Given the description of an element on the screen output the (x, y) to click on. 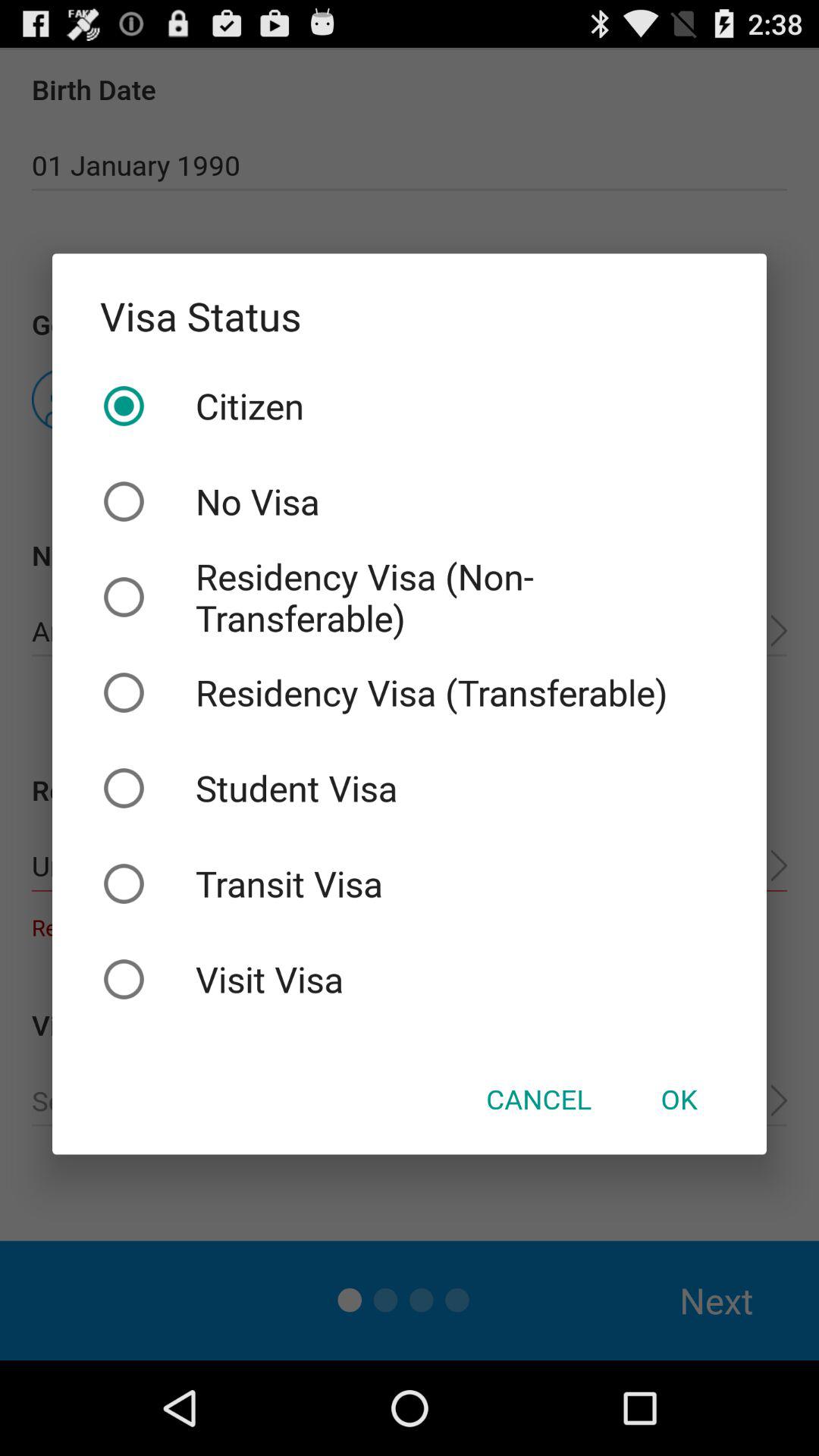
press the ok at the bottom right corner (678, 1098)
